Given the description of an element on the screen output the (x, y) to click on. 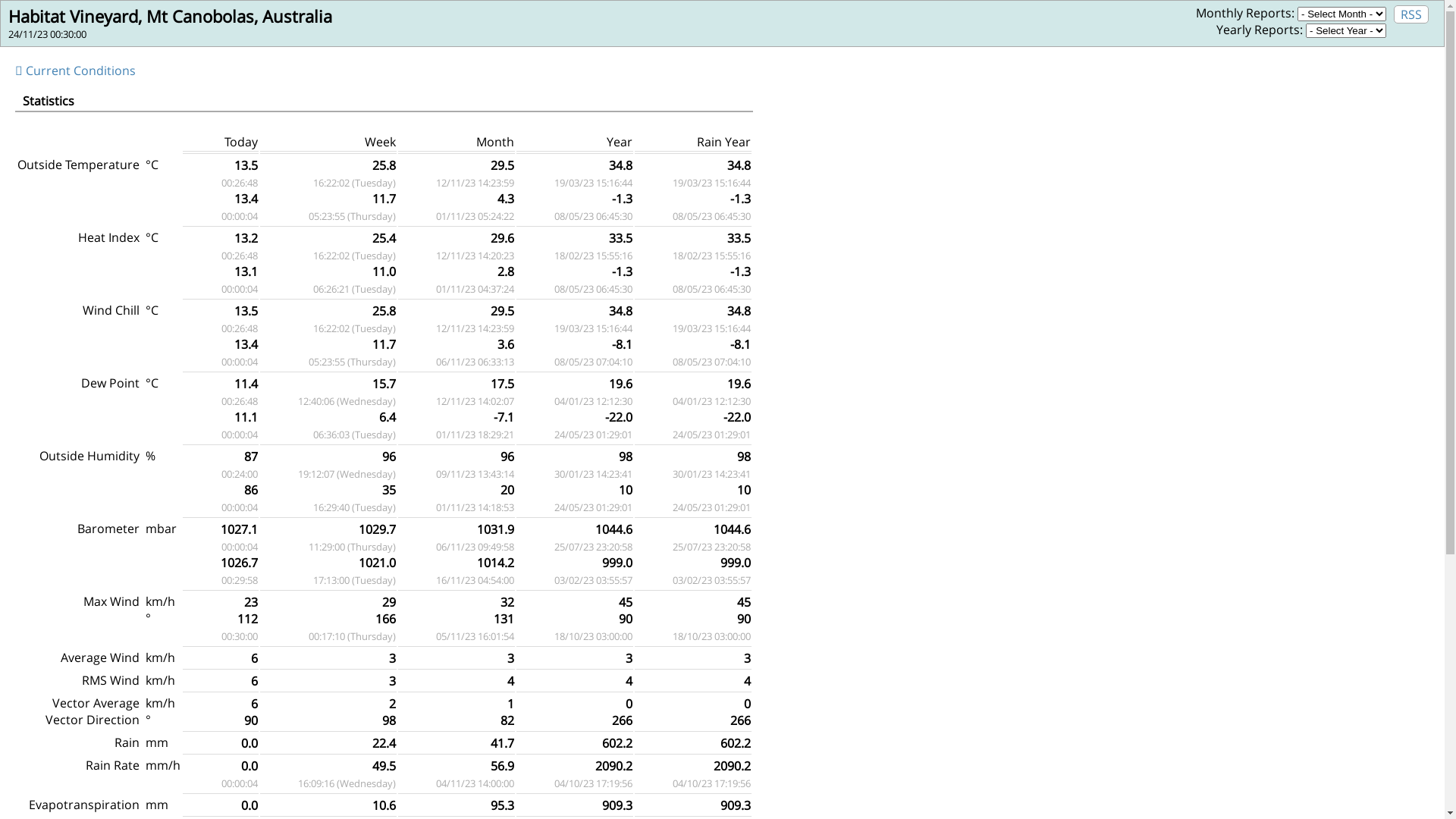
RSS Element type: text (1410, 14)
